Given the description of an element on the screen output the (x, y) to click on. 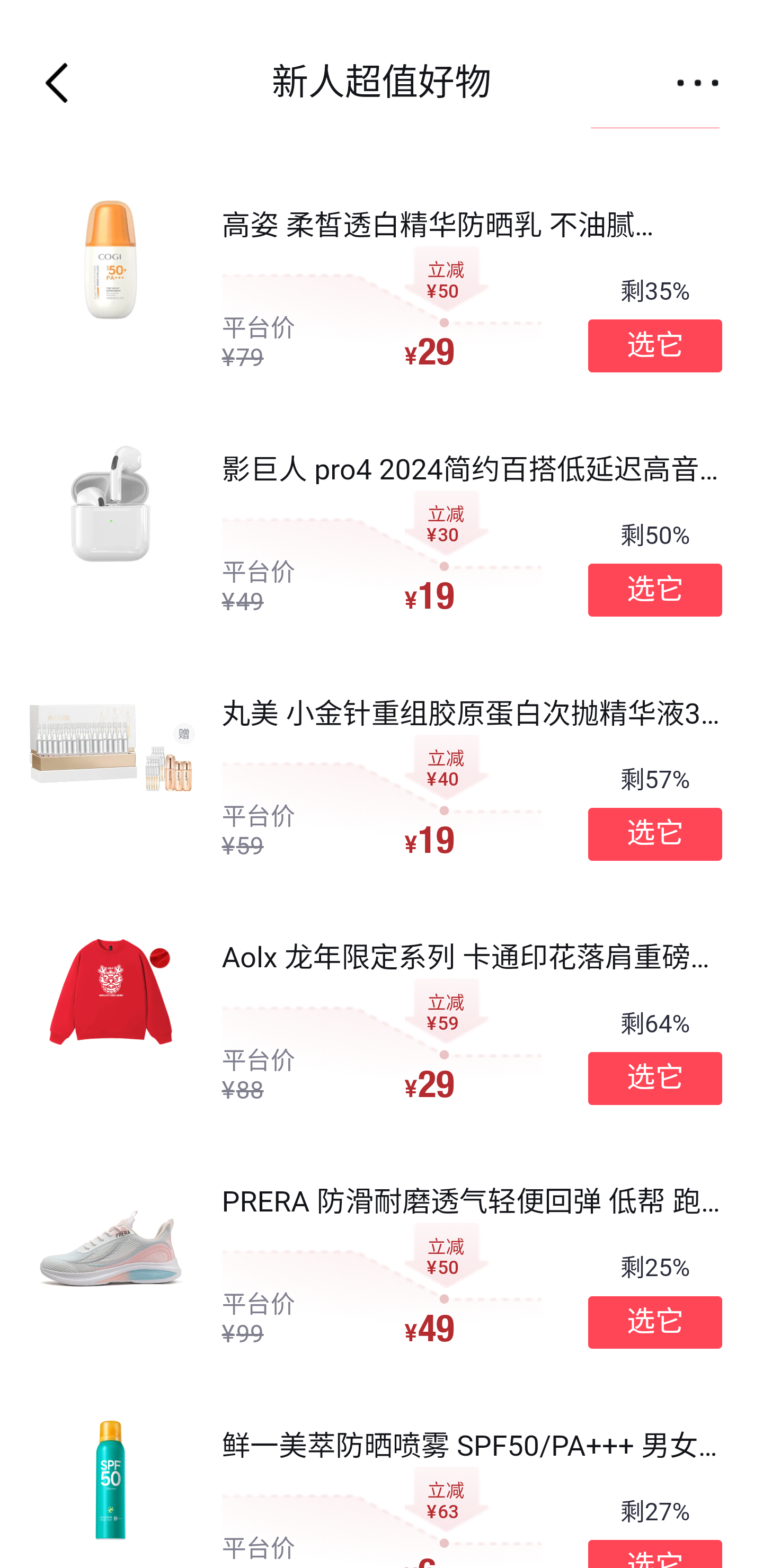
选它 (654, 346)
选它 (654, 589)
选它 (654, 833)
选它 (654, 1077)
选它 (654, 1321)
